Given the description of an element on the screen output the (x, y) to click on. 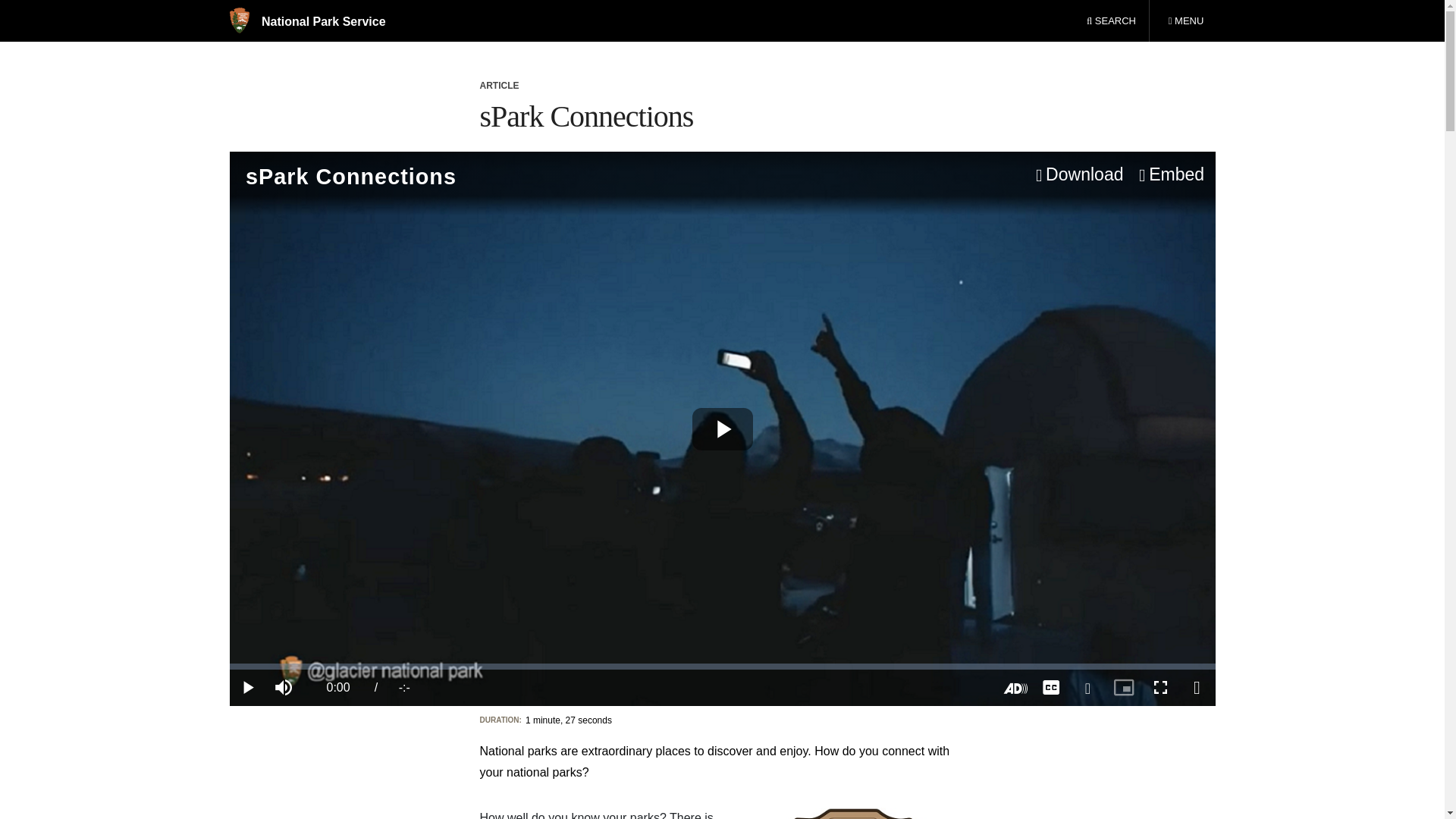
Picture-in-Picture (1123, 687)
Open quality selector menu (1086, 687)
Play (246, 687)
Download (1077, 174)
SEARCH (1111, 20)
Picture-in-Picture (1123, 687)
Captions (1050, 687)
Play Video (721, 428)
sPark Connections (1185, 20)
